Given the description of an element on the screen output the (x, y) to click on. 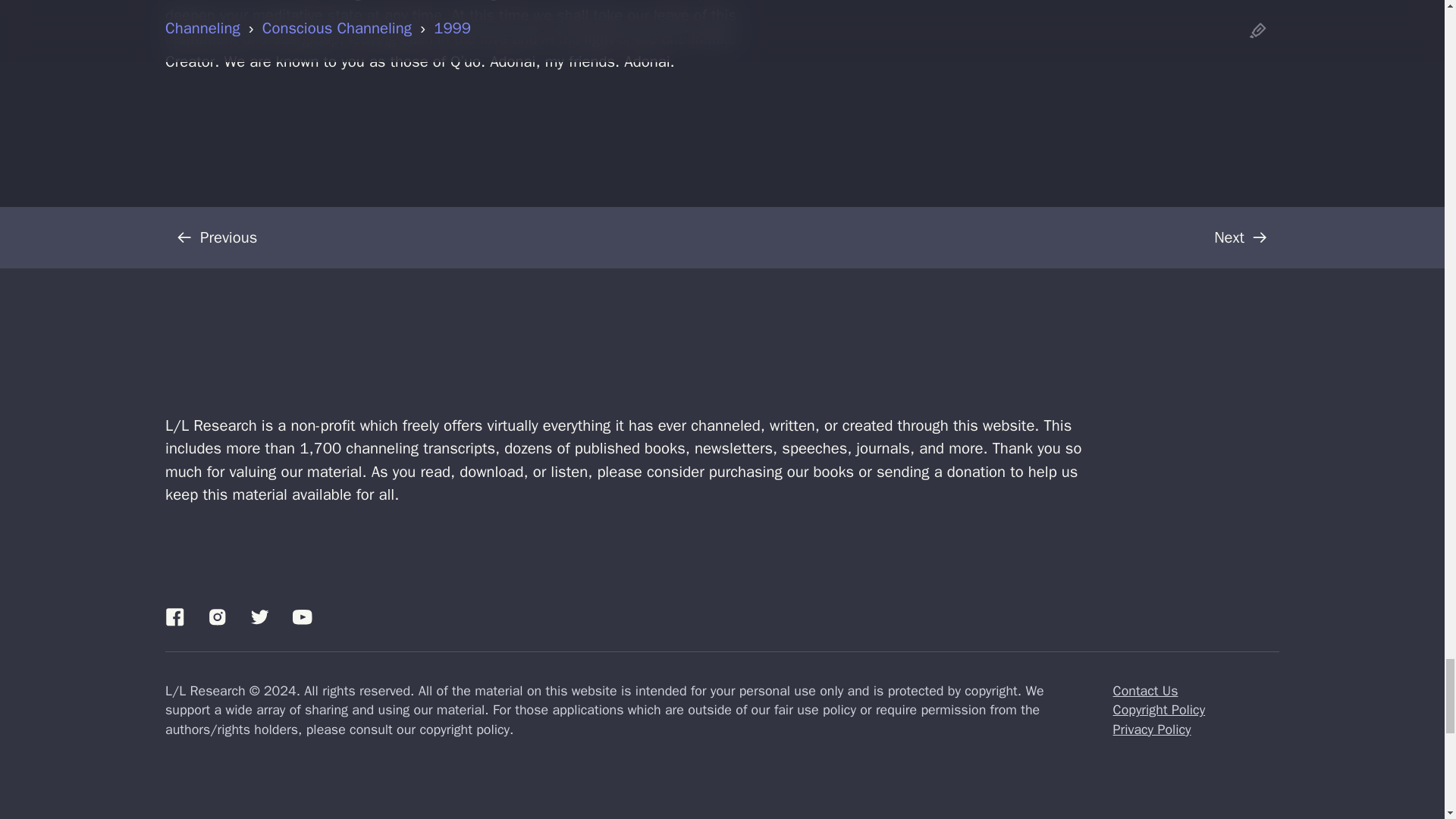
Twitter (259, 616)
YouTube (301, 616)
Facebook (174, 616)
Instagram (217, 616)
